Given the description of an element on the screen output the (x, y) to click on. 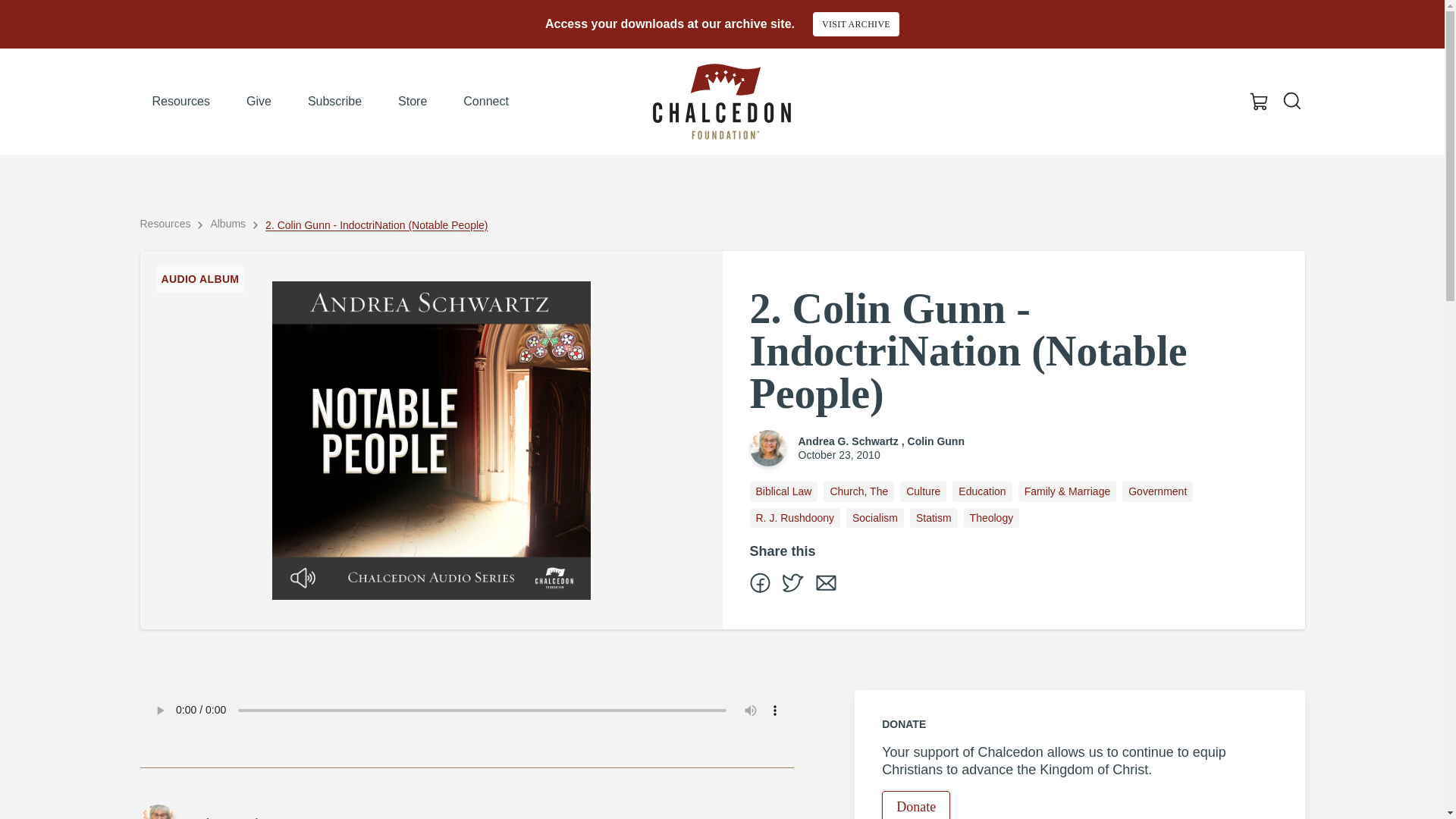
Statism (934, 517)
Government (1157, 491)
Socialism (874, 517)
Resources (180, 101)
Albums (227, 223)
Give (258, 101)
Donate (916, 805)
Church, The (858, 491)
Resources (164, 223)
Biblical Law (782, 491)
Culture (922, 491)
VISIT ARCHIVE (855, 24)
Chalcedon (721, 101)
Connect (486, 101)
View Cart (1258, 101)
